Given the description of an element on the screen output the (x, y) to click on. 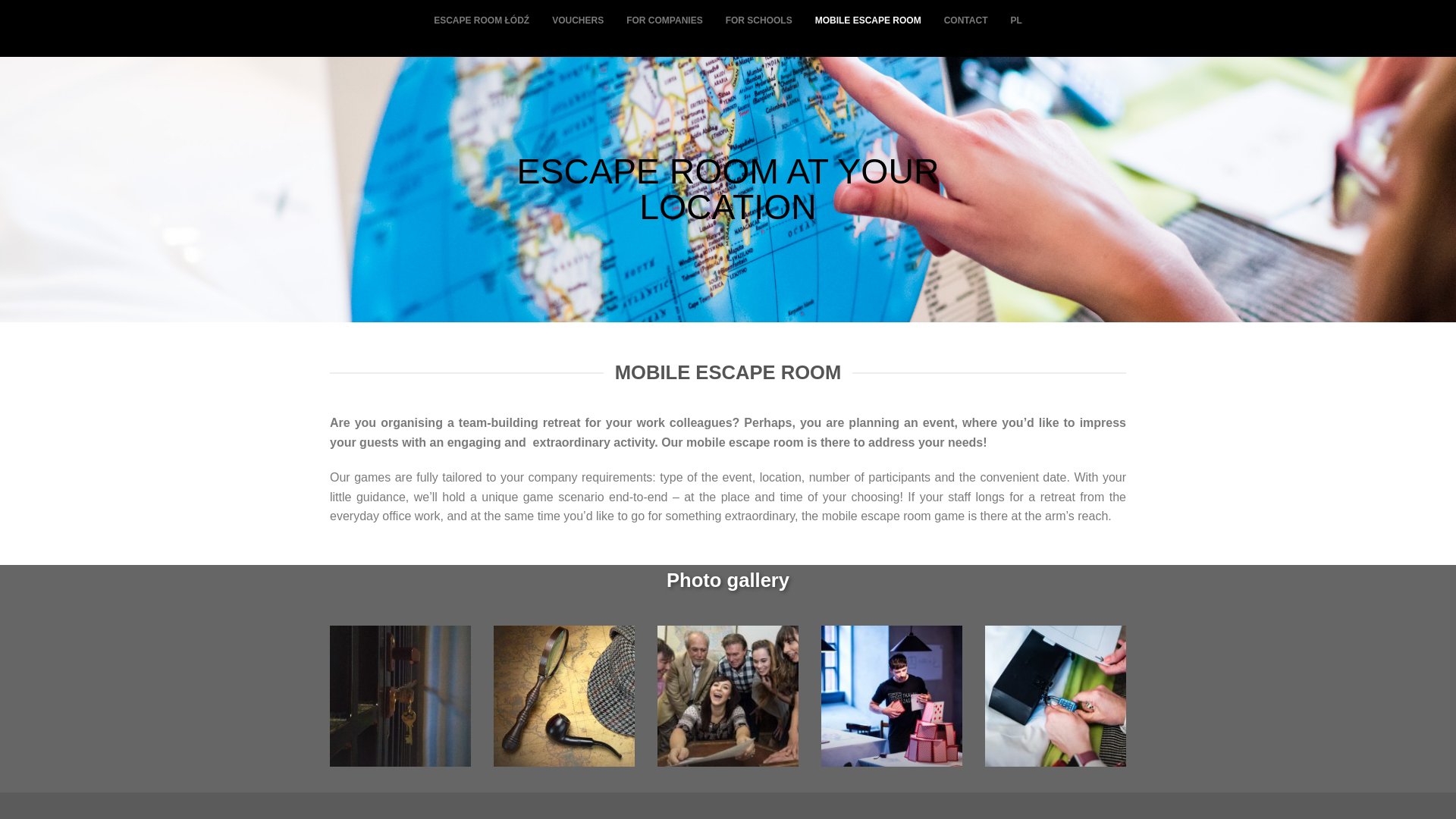
CONTACT (965, 20)
MOBILE ESCAPE ROOM (868, 20)
FOR SCHOOLS (758, 20)
FOR COMPANIES (663, 20)
VOUCHERS (577, 20)
